Given the description of an element on the screen output the (x, y) to click on. 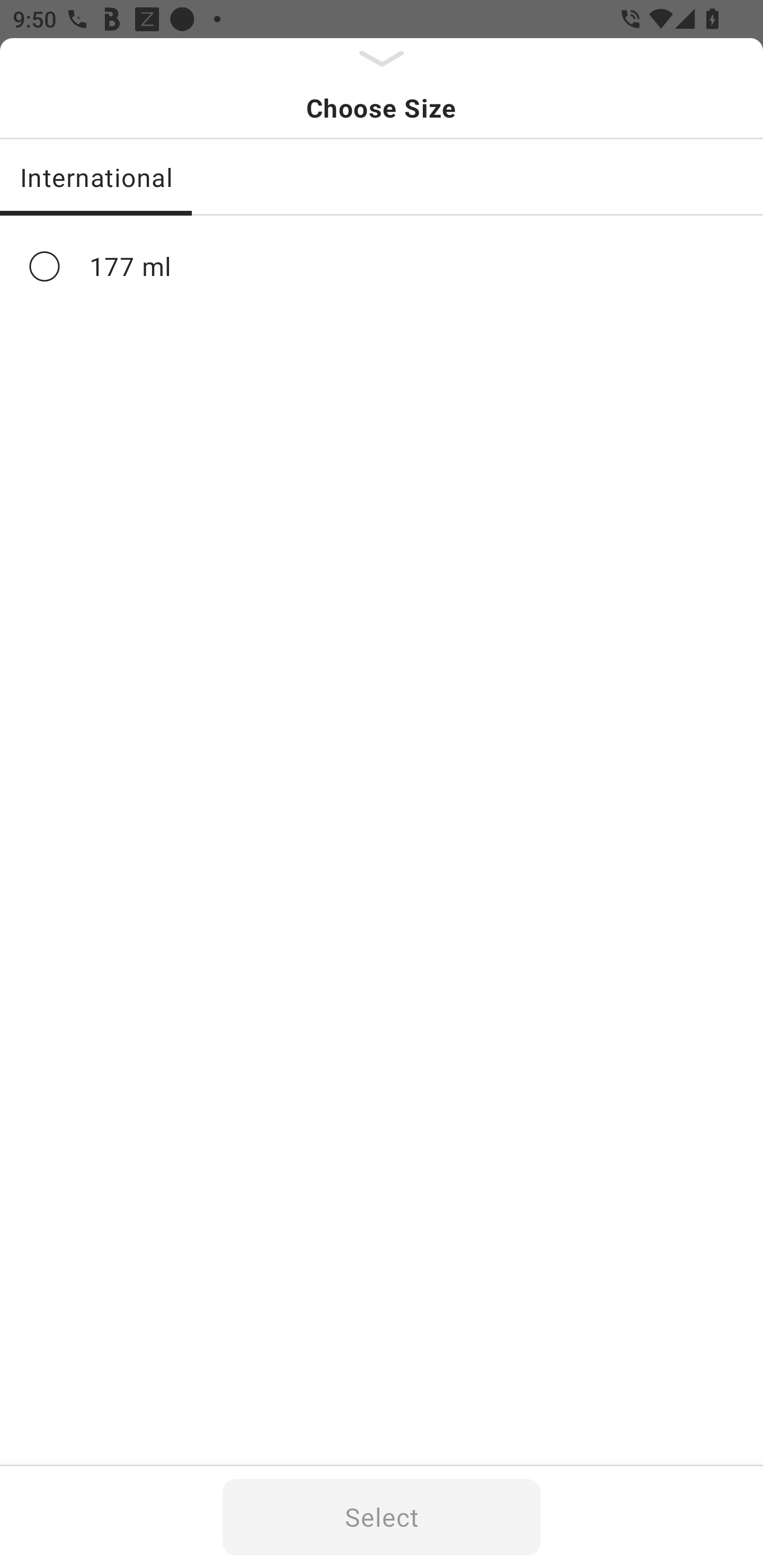
177 ml (381, 266)
Select (381, 1516)
